Given the description of an element on the screen output the (x, y) to click on. 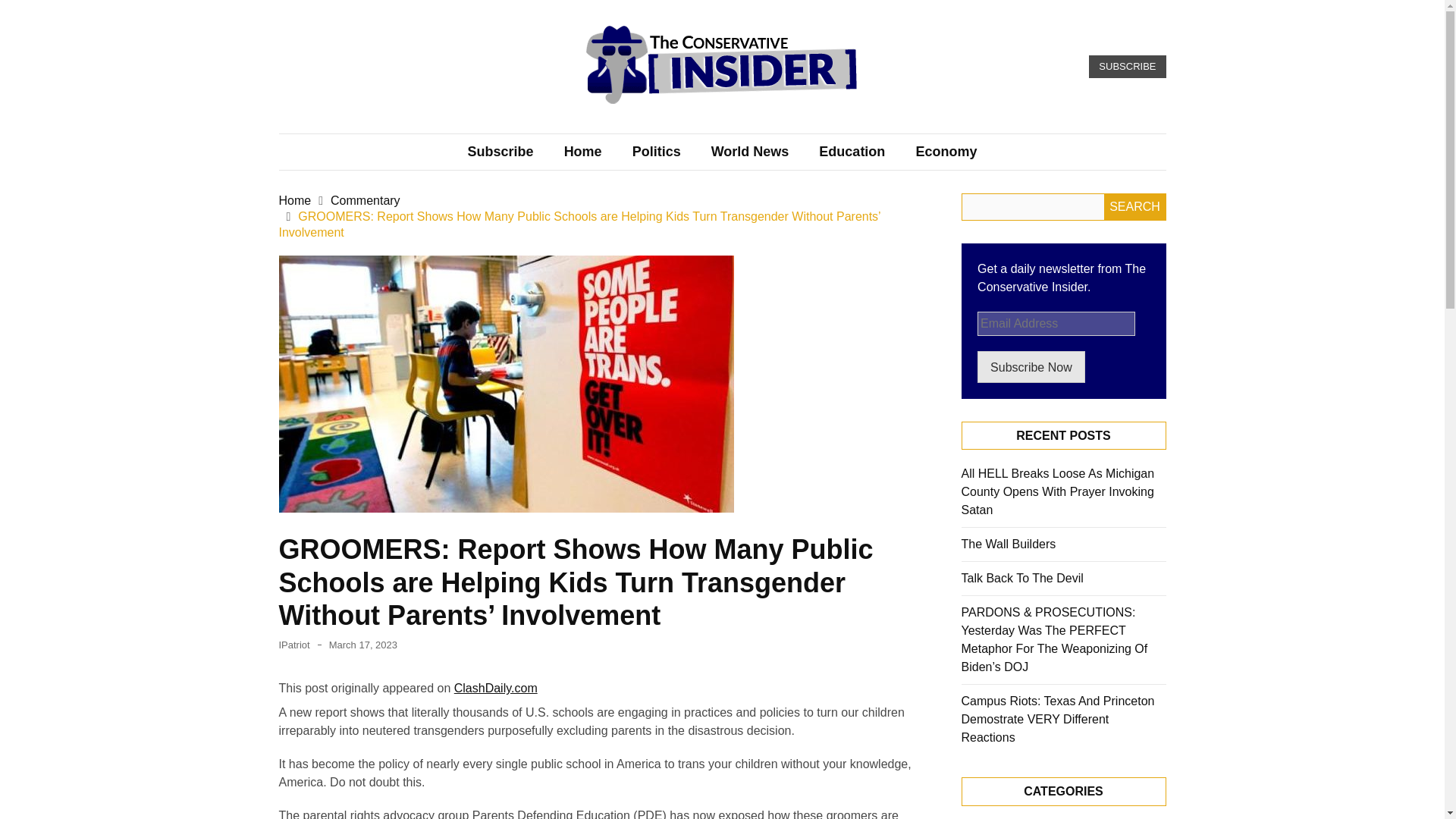
World News (750, 151)
Economy (945, 151)
Commentary (365, 200)
The Conservative Insider (668, 126)
SUBSCRIBE (1127, 66)
Subscribe (500, 151)
Politics (656, 151)
Home (582, 151)
Home (295, 200)
March 17, 2023 (363, 644)
IPatriot (294, 644)
Education (851, 151)
ClashDaily.com (495, 687)
